Given the description of an element on the screen output the (x, y) to click on. 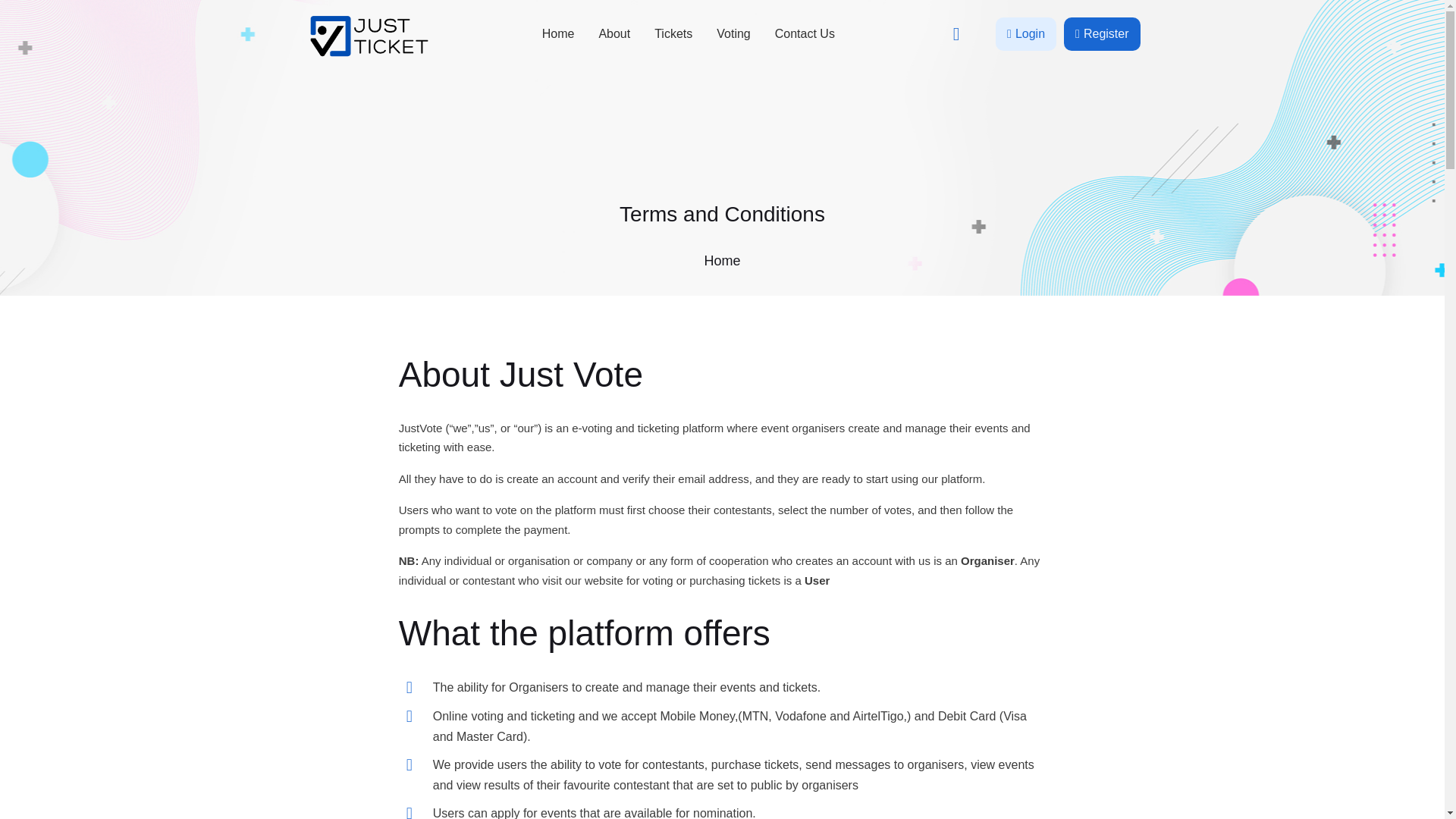
Home (721, 260)
Tickets (673, 33)
Home (557, 33)
Voting (732, 33)
Login (1026, 33)
Register (1102, 33)
About (614, 33)
Contact Us (804, 33)
